Given the description of an element on the screen output the (x, y) to click on. 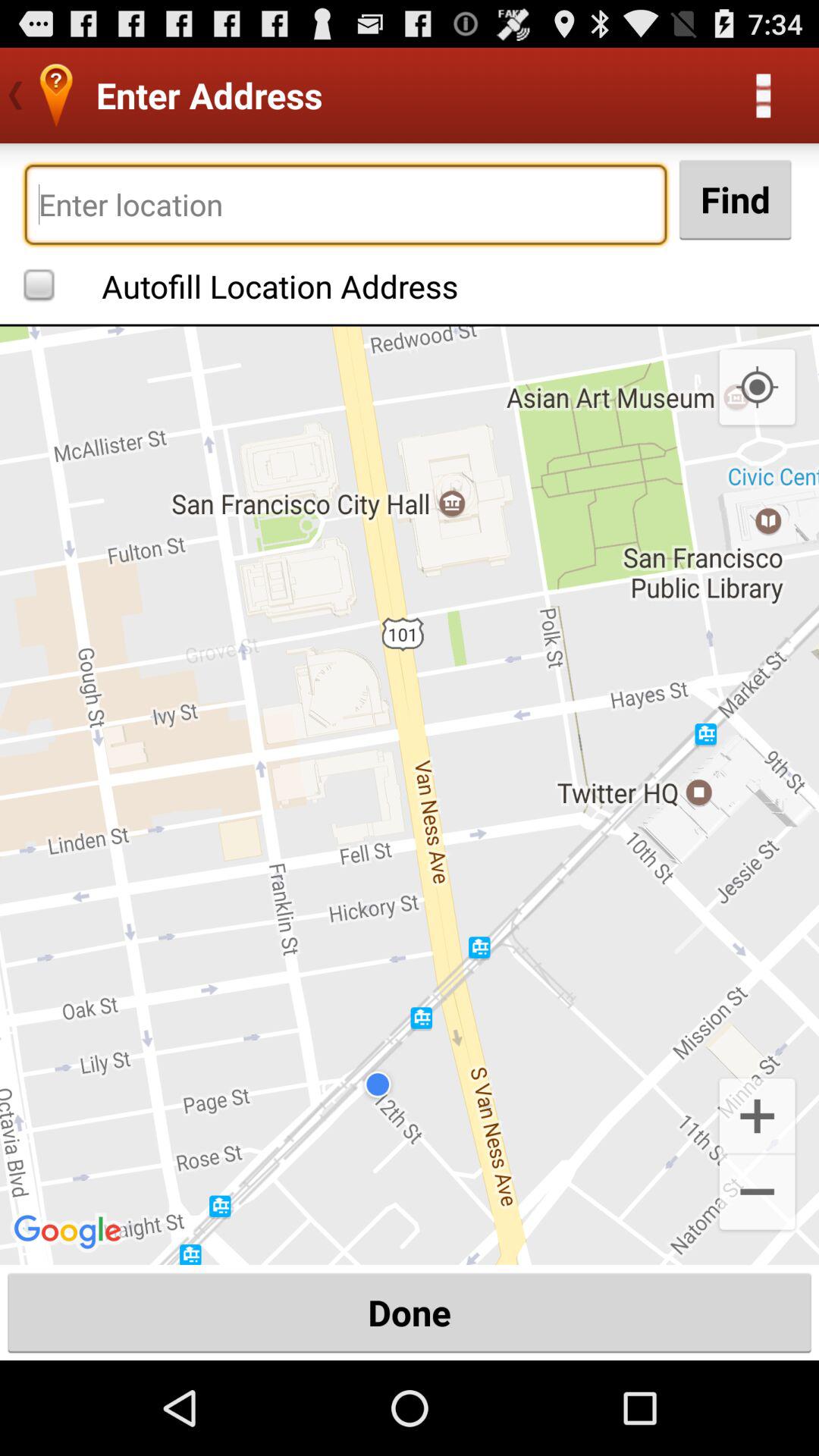
choose the icon to the left of find item (345, 204)
